Given the description of an element on the screen output the (x, y) to click on. 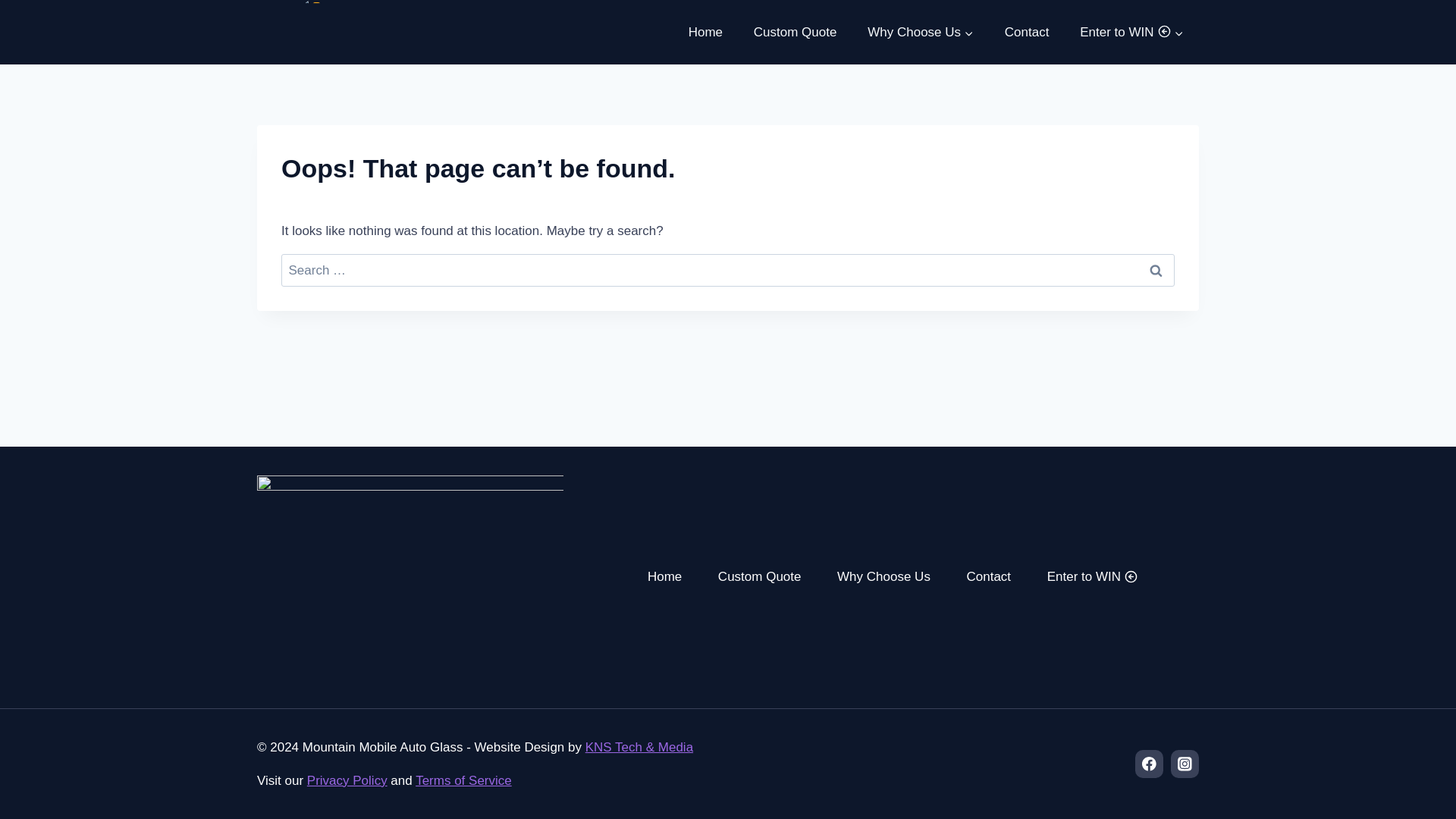
Home (705, 32)
Contact (1026, 32)
Why Choose Us (920, 32)
Enter to WIN (1131, 32)
Enter to WIN (1092, 576)
Privacy Policy (347, 780)
Search (1155, 269)
Custom Quote (794, 32)
Contact (989, 576)
Terms of Service (463, 780)
